Given the description of an element on the screen output the (x, y) to click on. 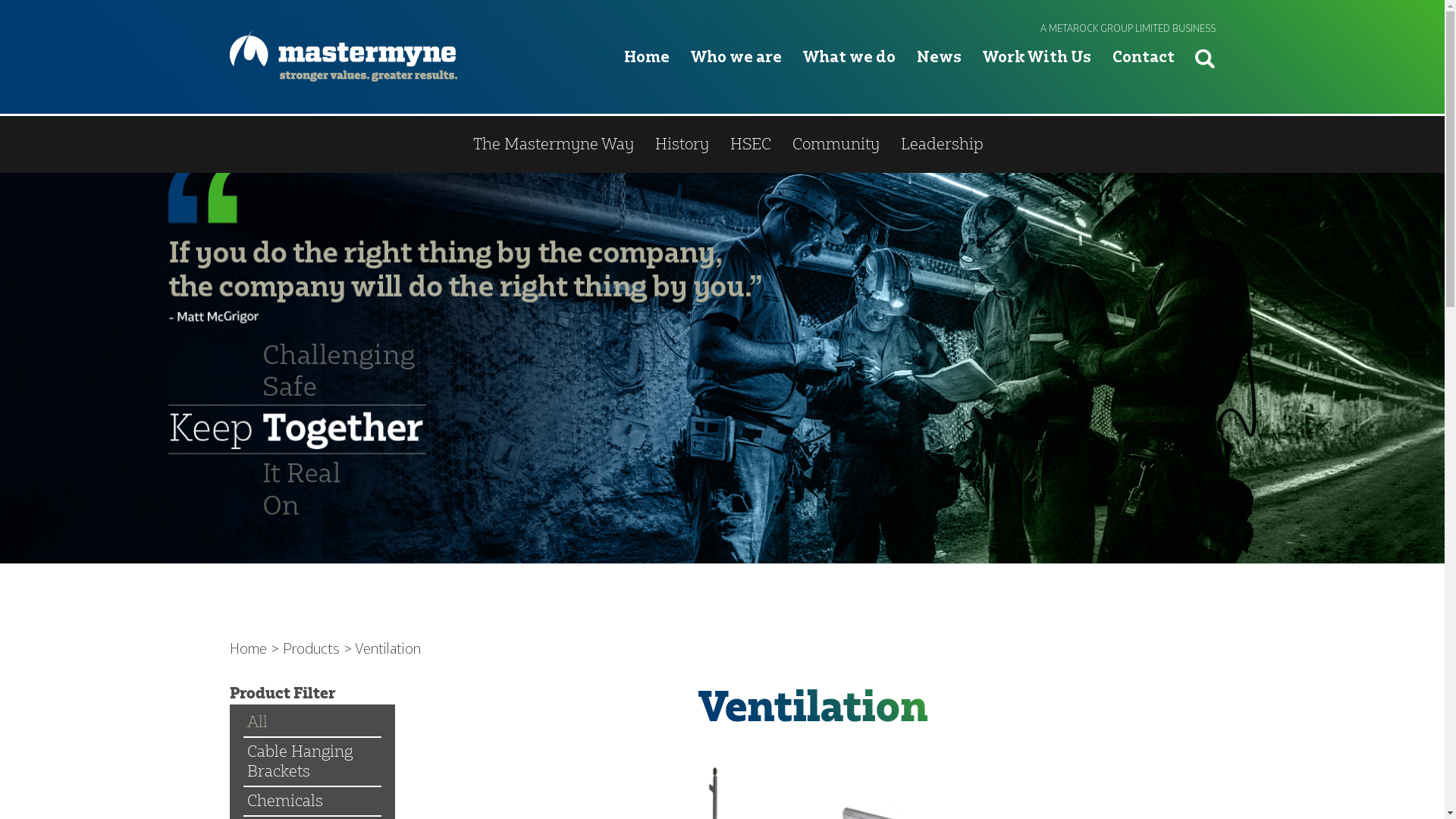
Cable Hanging Brackets Element type: text (311, 761)
Search Element type: text (1204, 58)
Home Element type: text (247, 649)
Who we are Element type: text (735, 80)
HSEC Element type: text (749, 144)
Leadership Element type: text (941, 144)
Contact Element type: text (1143, 80)
Overview Element type: text (503, 144)
Community Element type: text (834, 144)
Mining Element type: text (585, 144)
News Element type: text (938, 80)
Home Element type: text (646, 80)
The Mastermyne Way Element type: text (553, 144)
Work With Us Element type: text (1036, 80)
Chemicals Element type: text (284, 801)
Products Element type: text (310, 649)
Projects Element type: text (958, 144)
All Element type: text (256, 722)
History Element type: text (682, 144)
Wilson Mining Element type: text (686, 144)
What we do Element type: text (849, 80)
Training Element type: text (877, 144)
Products Element type: text (793, 144)
